Given the description of an element on the screen output the (x, y) to click on. 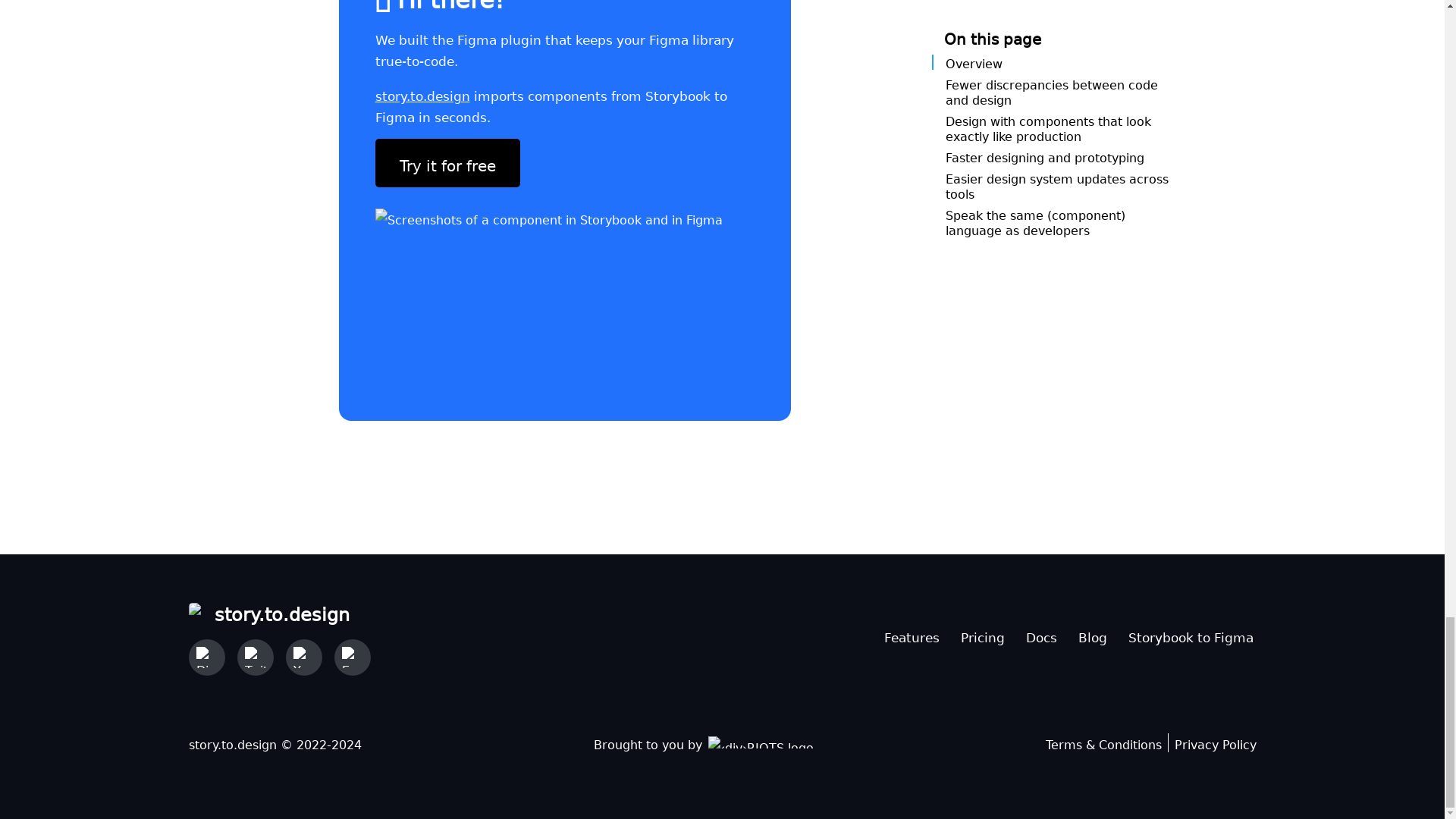
Privacy Policy (1214, 742)
Features (911, 634)
Storybook to Figma (1190, 634)
Docs (1041, 634)
Pricing (981, 634)
Try it for free (446, 162)
story.to.design (278, 611)
story.to.design (421, 93)
Blog (1092, 634)
